Given the description of an element on the screen output the (x, y) to click on. 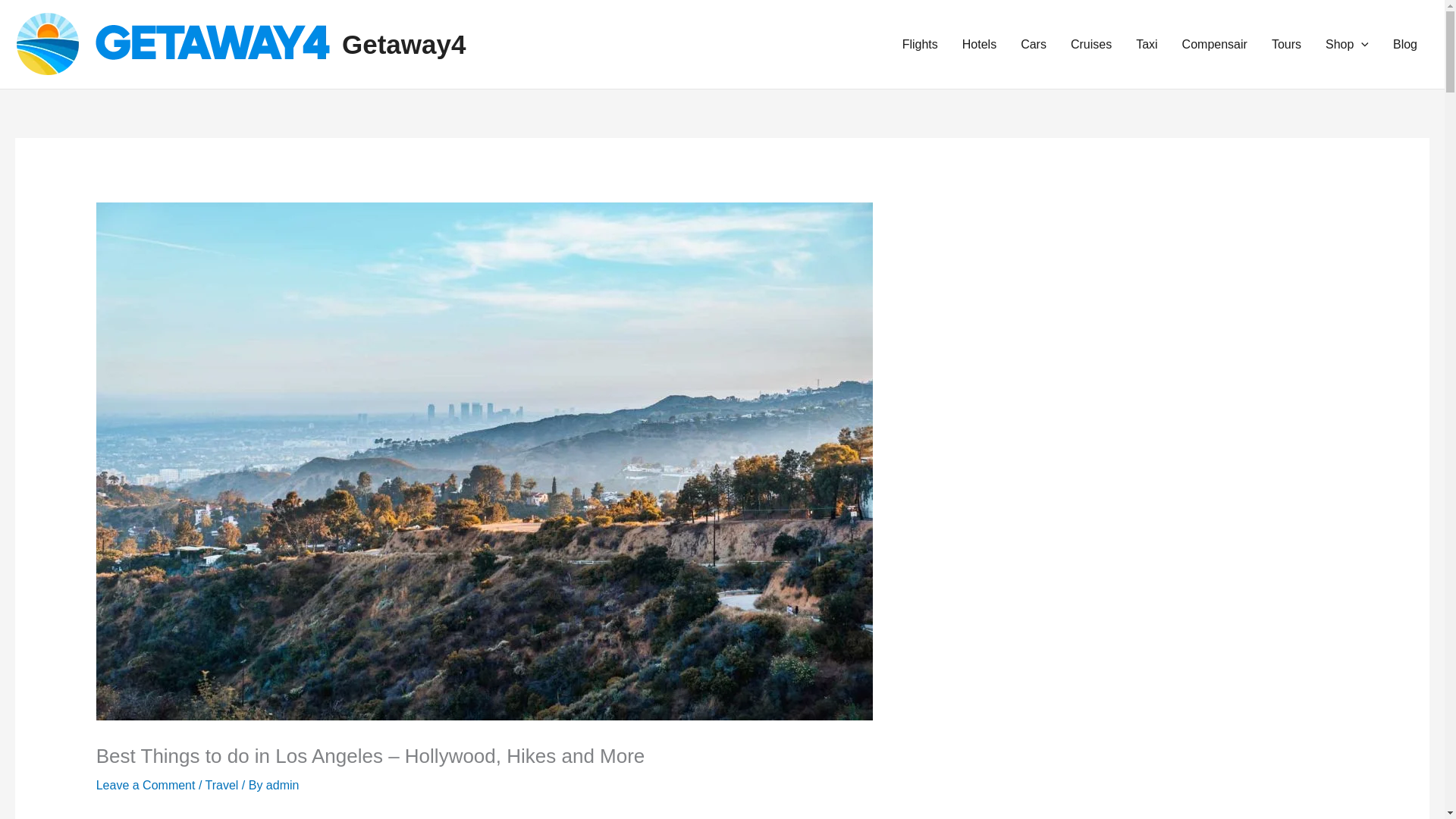
Travel (221, 784)
Leave a Comment (145, 784)
Compensair (1214, 44)
Getaway4 (403, 43)
View all posts by admin (282, 784)
admin (282, 784)
